Given the description of an element on the screen output the (x, y) to click on. 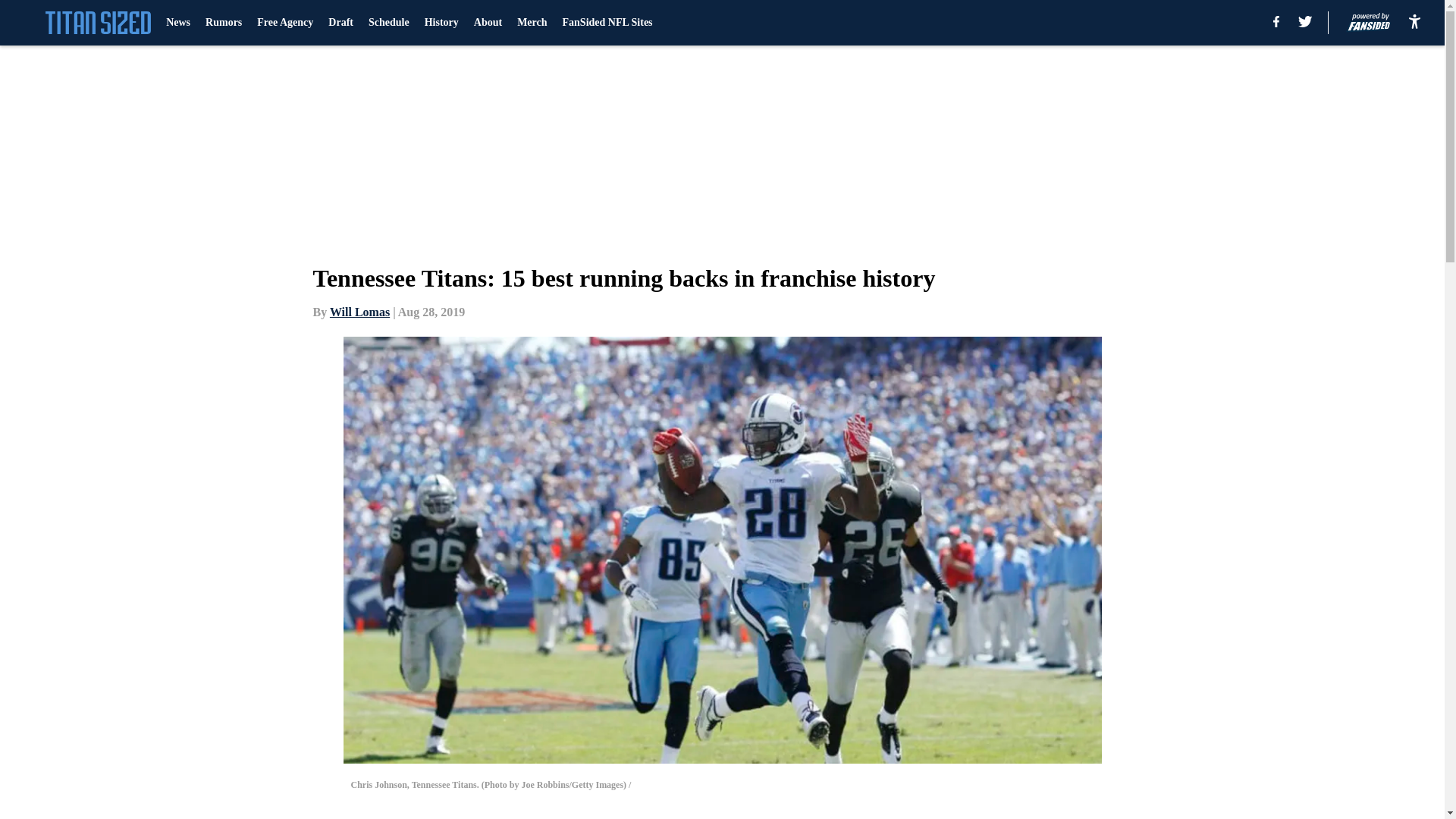
Rumors (223, 22)
Will Lomas (360, 311)
History (441, 22)
Free Agency (285, 22)
About (488, 22)
News (177, 22)
Merch (531, 22)
Draft (341, 22)
Schedule (388, 22)
FanSided NFL Sites (607, 22)
